Given the description of an element on the screen output the (x, y) to click on. 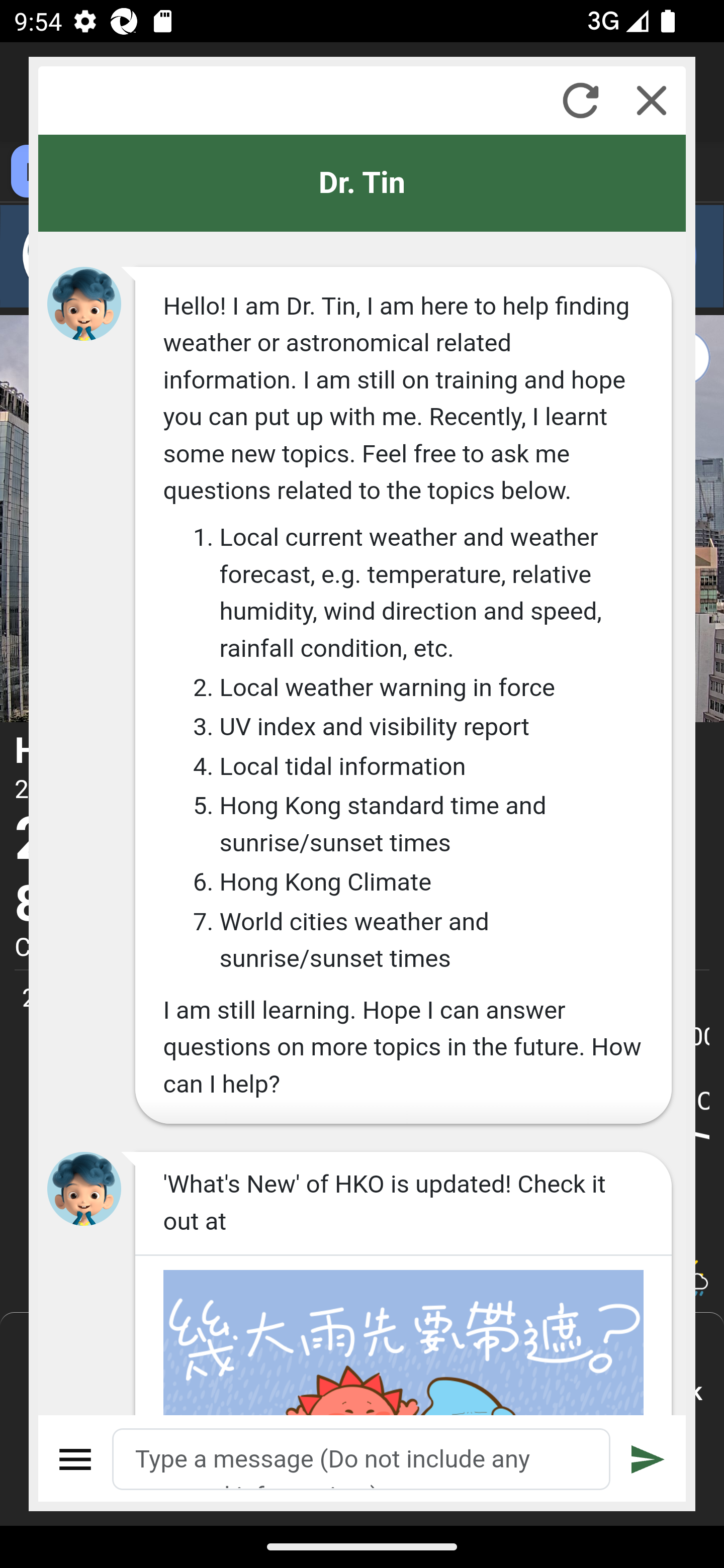
Refresh (580, 100)
Close (651, 100)
Menu (75, 1458)
Submit (648, 1458)
